Given the description of an element on the screen output the (x, y) to click on. 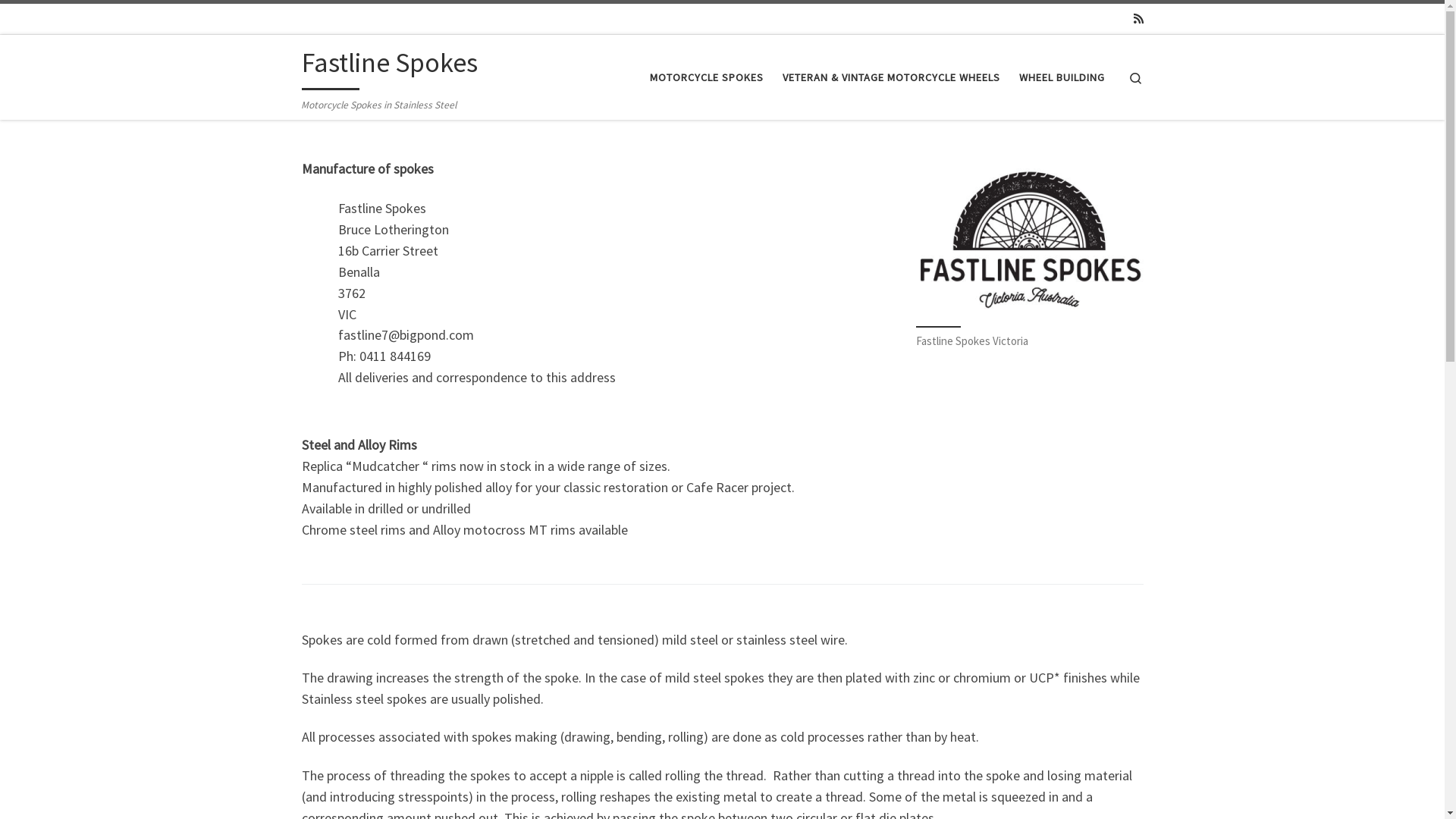
VETERAN & VINTAGE MOTORCYCLE WHEELS Element type: text (890, 77)
Search Element type: text (1135, 77)
Fastline Spokes Element type: text (389, 66)
WHEEL BUILDING Element type: text (1061, 77)
Skip to content Element type: text (57, 21)
Subscribe to my rss feed Element type: hover (1137, 18)
MOTORCYCLE SPOKES Element type: text (706, 77)
